Given the description of an element on the screen output the (x, y) to click on. 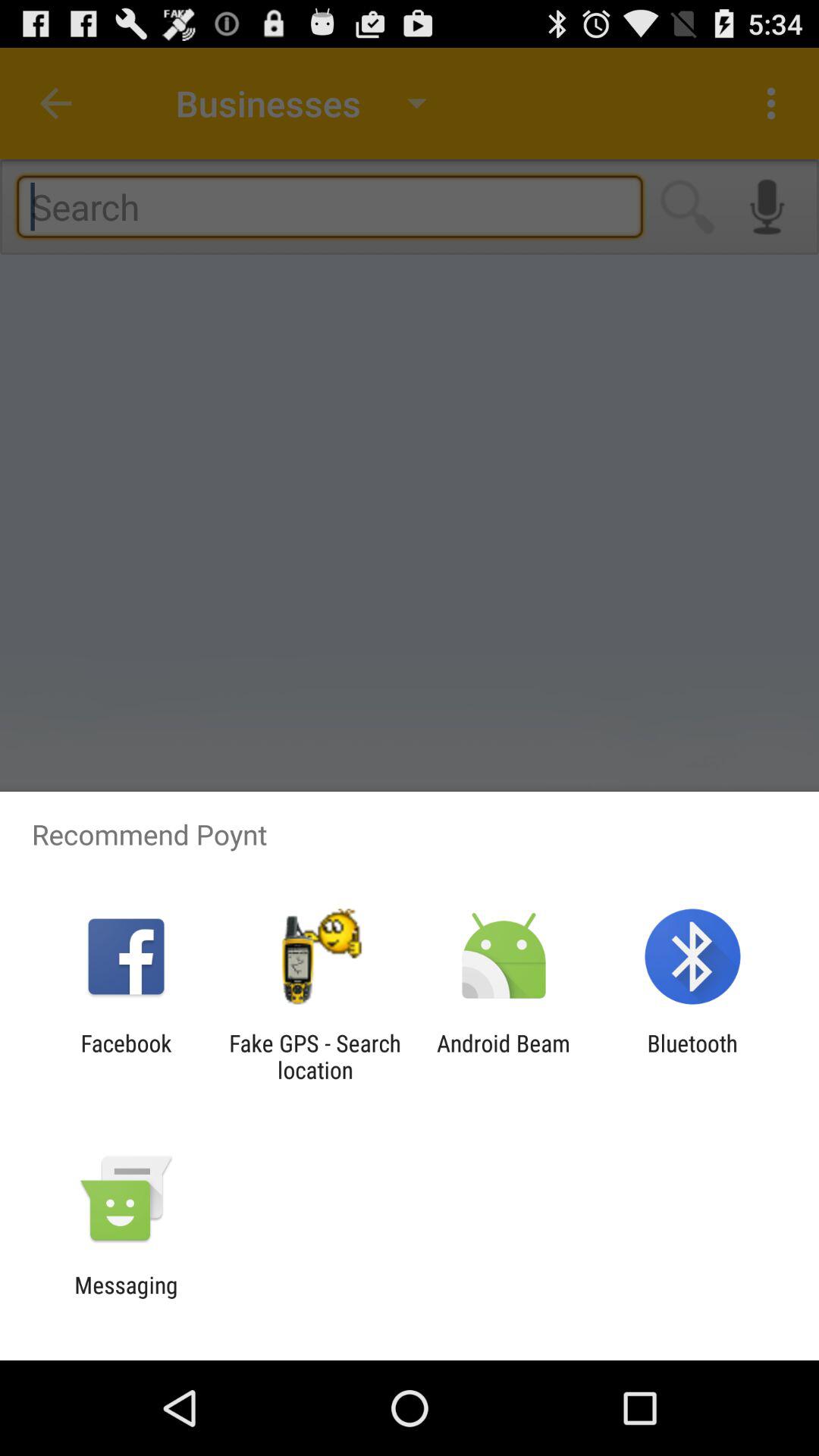
tap the icon next to fake gps search item (503, 1056)
